Given the description of an element on the screen output the (x, y) to click on. 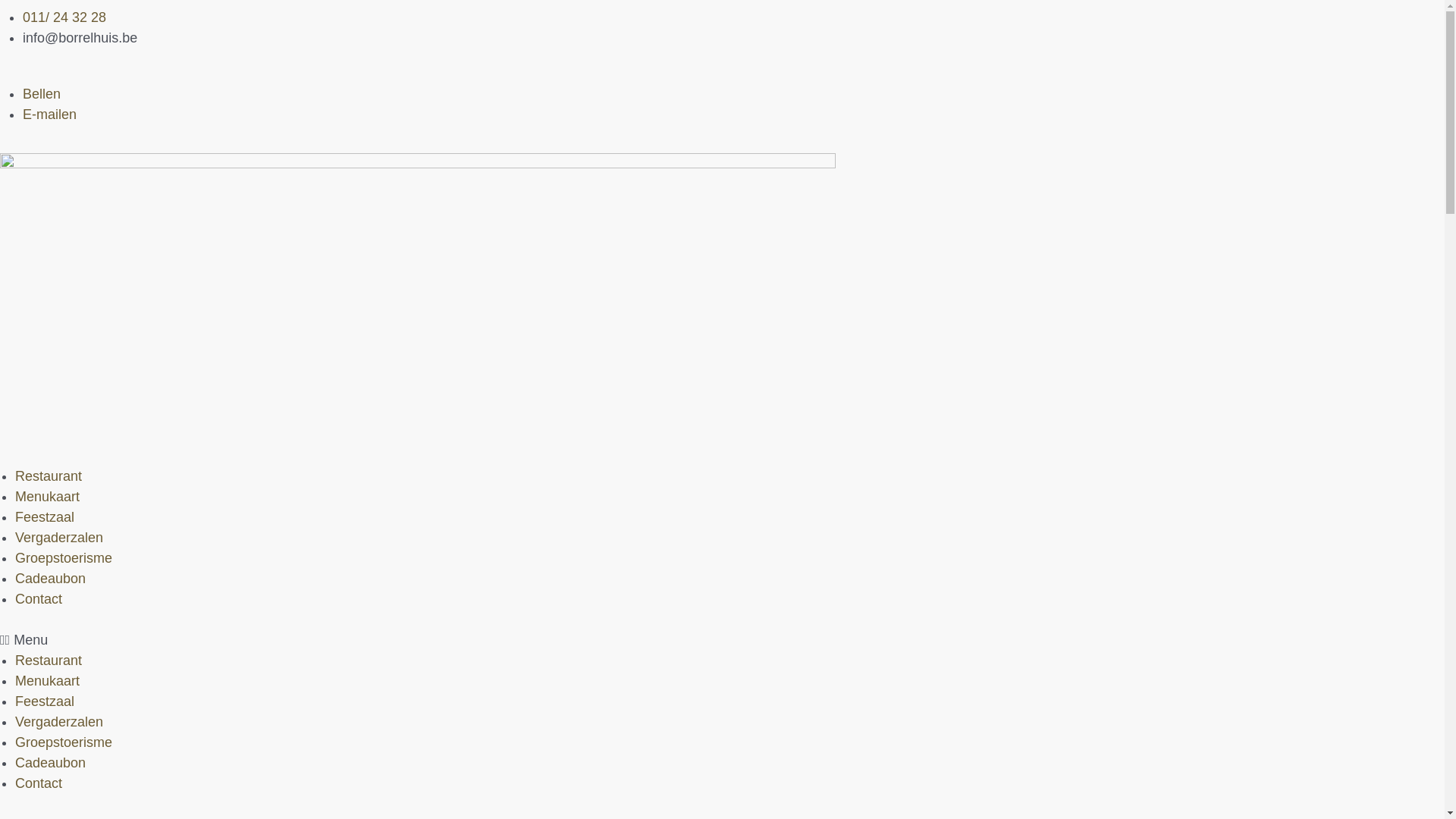
Menukaart Element type: text (47, 680)
Vergaderzalen Element type: text (59, 537)
011/ 24 32 28 Element type: text (64, 17)
E-mailen Element type: text (49, 114)
Contact Element type: text (38, 782)
Feestzaal Element type: text (44, 516)
Restaurant Element type: text (48, 660)
Bellen Element type: text (41, 93)
Vergaderzalen Element type: text (59, 721)
Groepstoerisme Element type: text (63, 741)
Restaurant Element type: text (48, 475)
Cadeaubon Element type: text (50, 578)
Groepstoerisme Element type: text (63, 557)
Feestzaal Element type: text (44, 701)
Contact Element type: text (38, 598)
Menukaart Element type: text (47, 496)
Cadeaubon Element type: text (50, 762)
